Given the description of an element on the screen output the (x, y) to click on. 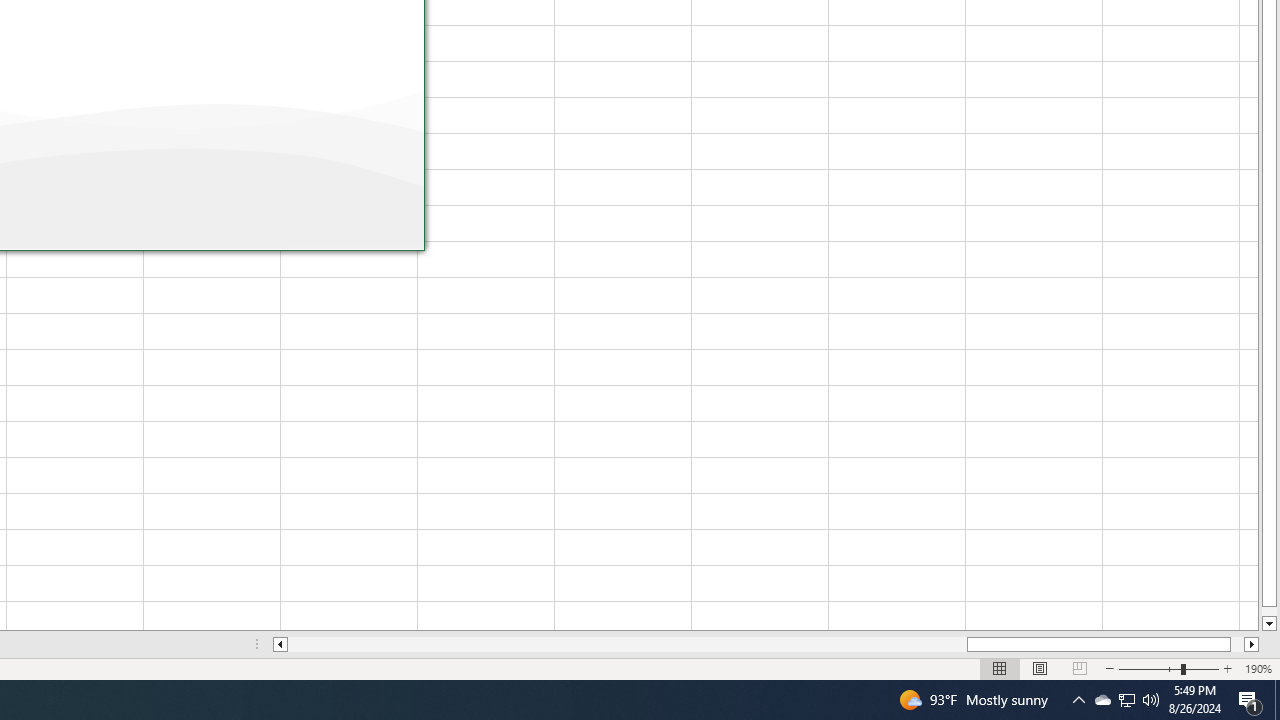
Action Center, 1 new notification (1250, 699)
Line down (1268, 624)
Class: NetUIScrollBar (765, 644)
Page right (1237, 644)
Show desktop (1277, 699)
Notification Chevron (1078, 699)
